Given the description of an element on the screen output the (x, y) to click on. 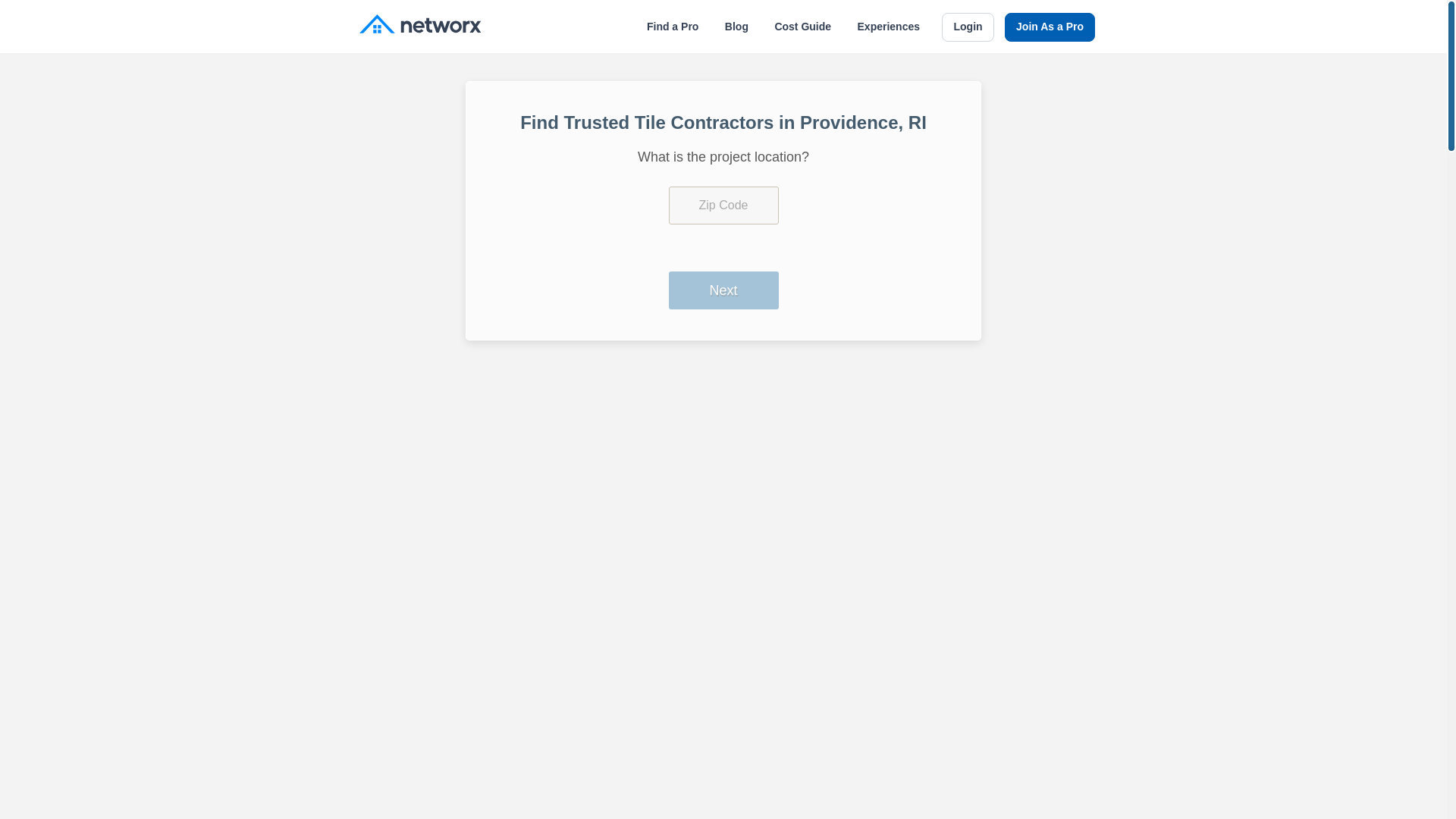
Next (723, 290)
Login (967, 27)
Cost Guide (802, 26)
Join As a Pro (1049, 27)
Networx (419, 25)
Find a Pro (672, 26)
Experiences (888, 26)
Please enter a valid zip code (723, 205)
